Given the description of an element on the screen output the (x, y) to click on. 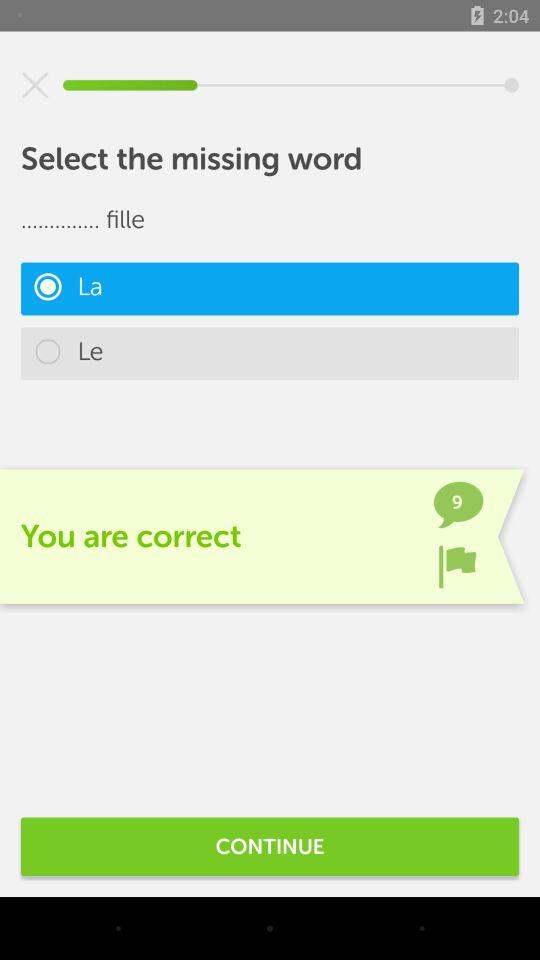
tap the le item (270, 353)
